Given the description of an element on the screen output the (x, y) to click on. 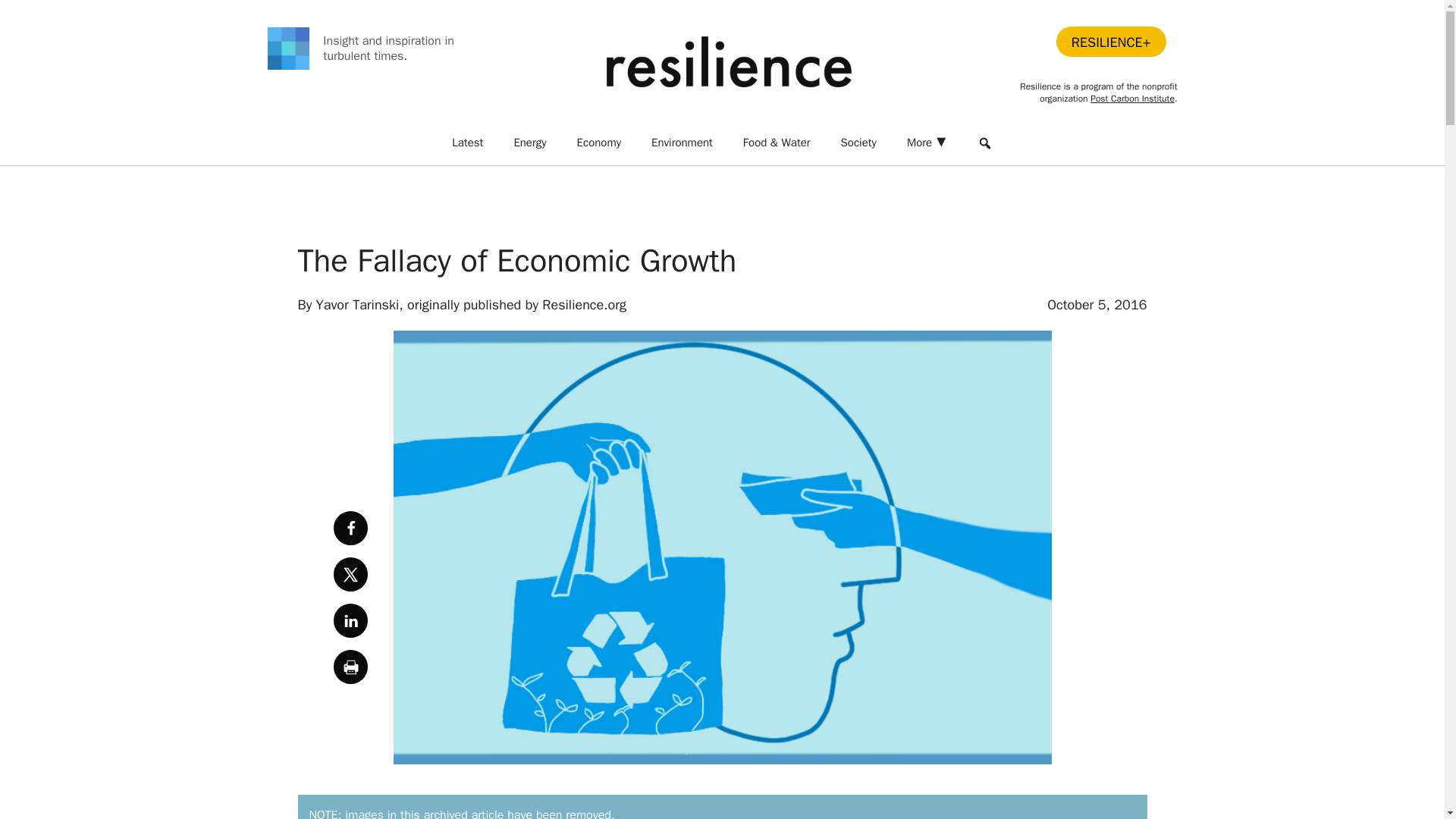
Post Carbon Institute (1132, 98)
